Given the description of an element on the screen output the (x, y) to click on. 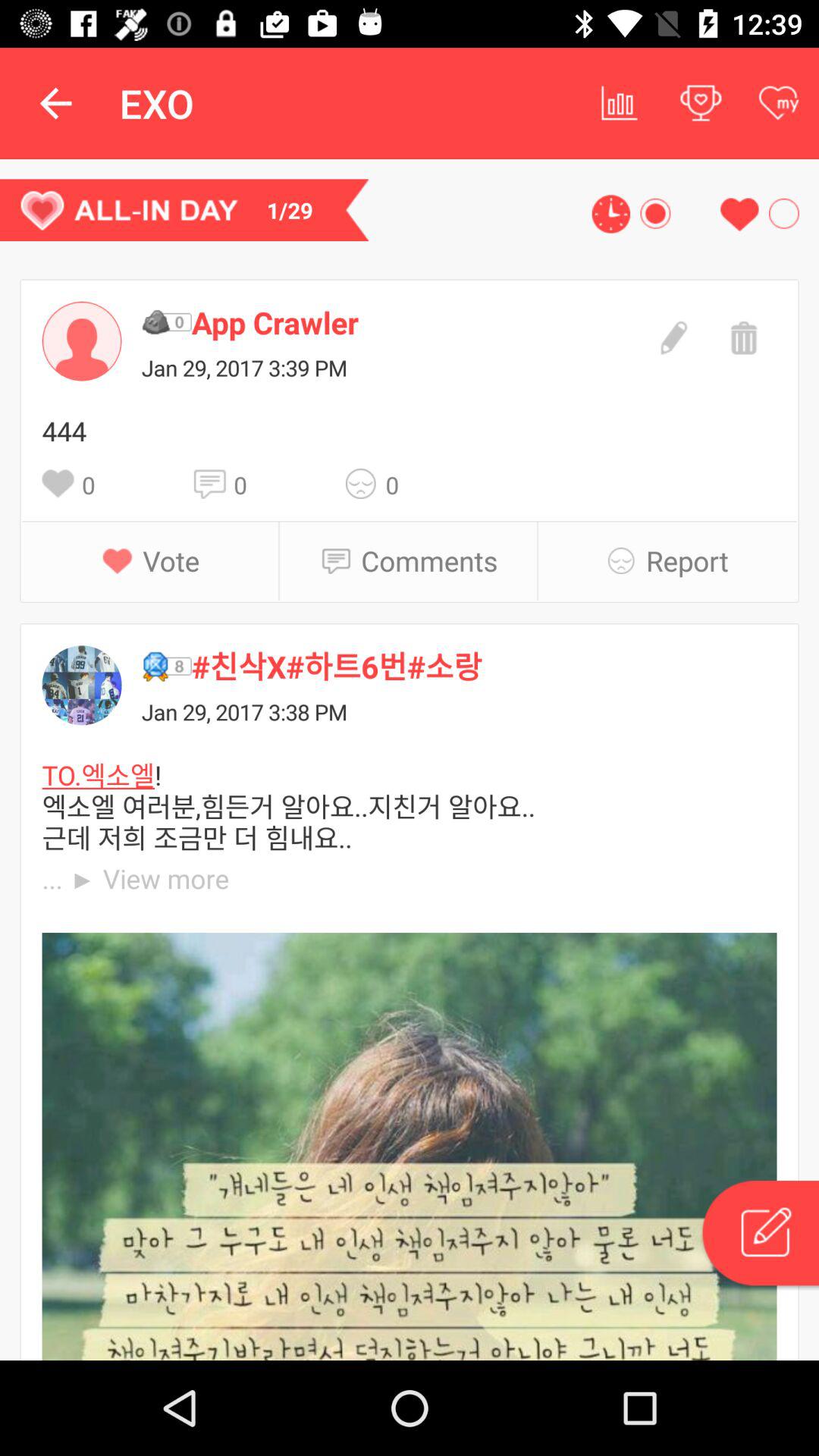
turn on the icon next to 0 item (213, 483)
